Given the description of an element on the screen output the (x, y) to click on. 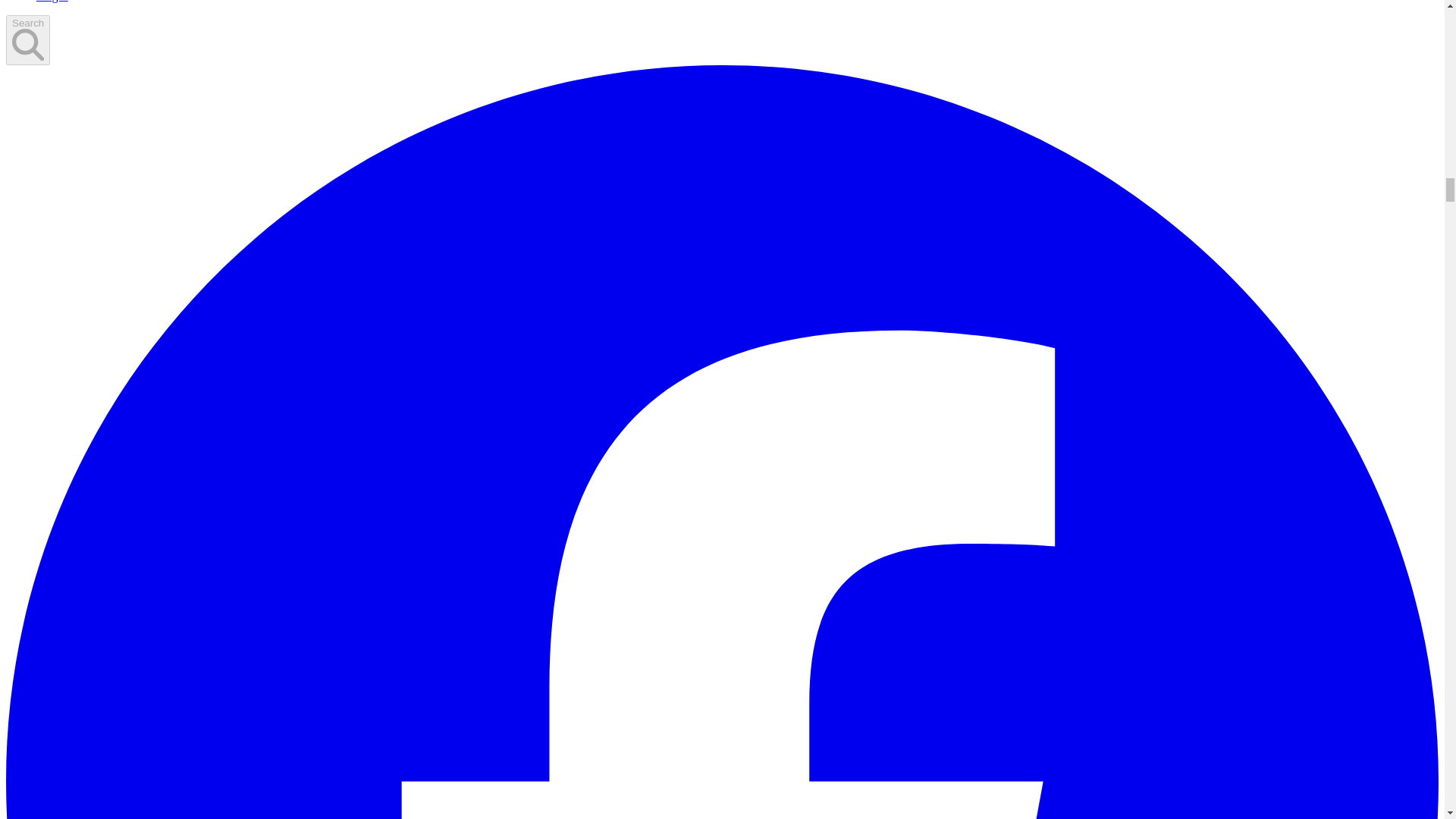
Stages (52, 1)
